Given the description of an element on the screen output the (x, y) to click on. 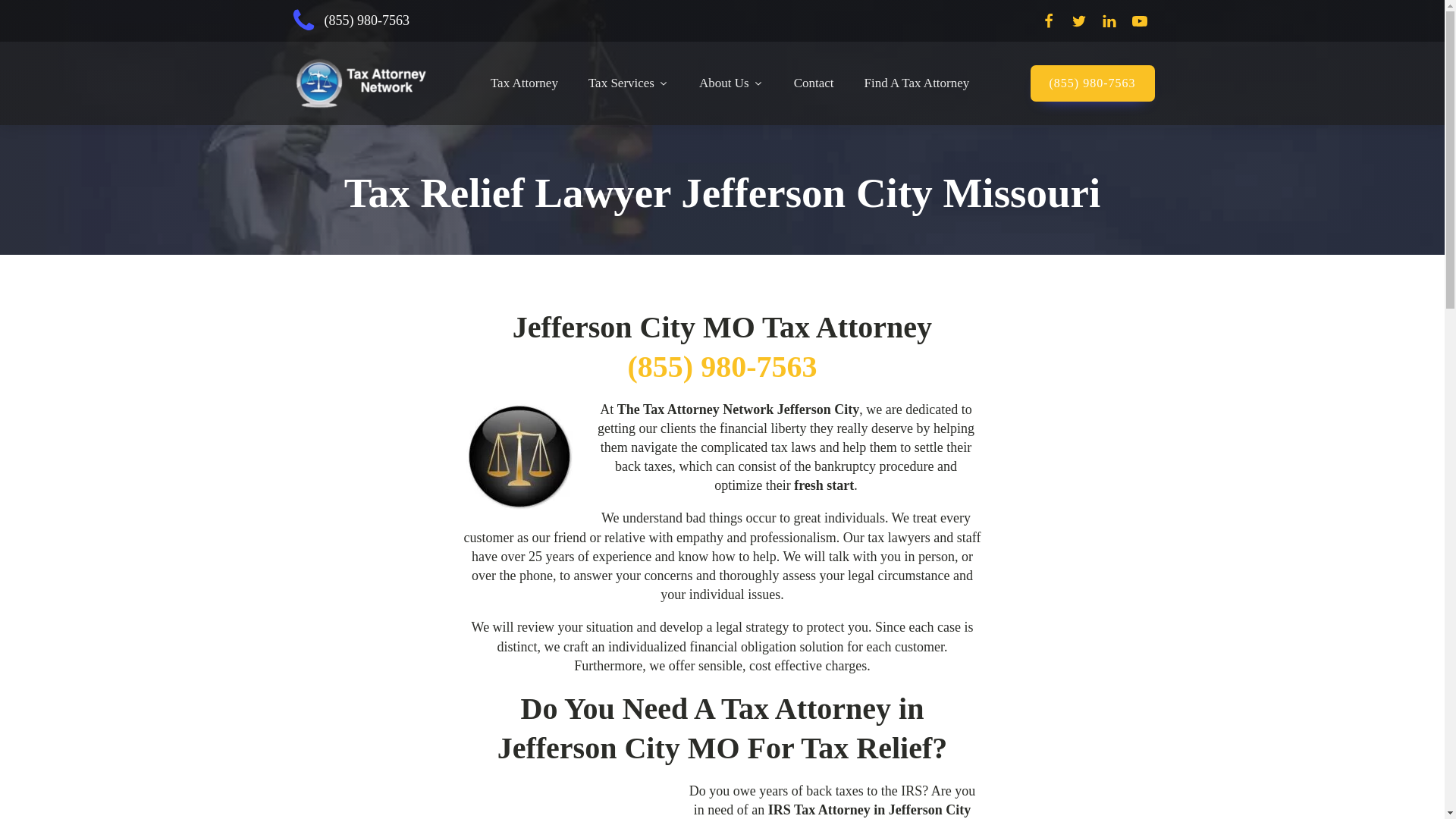
Tax Services (628, 83)
About Us (731, 83)
Find A Tax Attorney (916, 83)
Tax Attorney (524, 83)
Contact (813, 83)
